Given the description of an element on the screen output the (x, y) to click on. 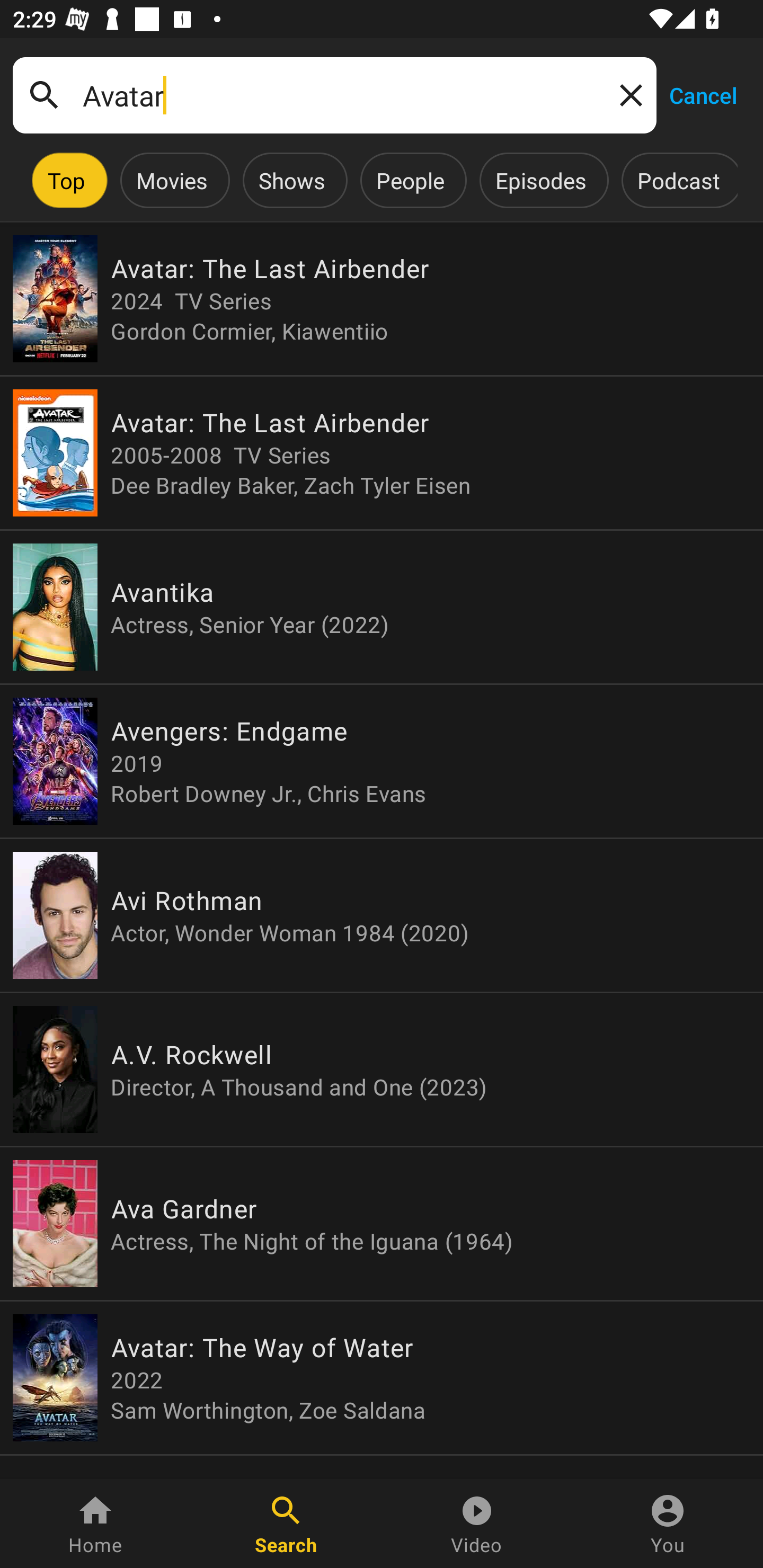
Clear query (627, 94)
Cancel (703, 94)
Avatar (334, 95)
Top (66, 180)
Movies (171, 180)
Shows (291, 180)
People (410, 180)
Episodes (540, 180)
Podcast (678, 180)
Avantika Actress, Senior Year (2022) (381, 607)
Avi Rothman Actor, Wonder Woman 1984 (2020) (381, 914)
A.V. Rockwell Director, A Thousand and One (2023) (381, 1069)
Home (95, 1523)
Video (476, 1523)
You (667, 1523)
